Given the description of an element on the screen output the (x, y) to click on. 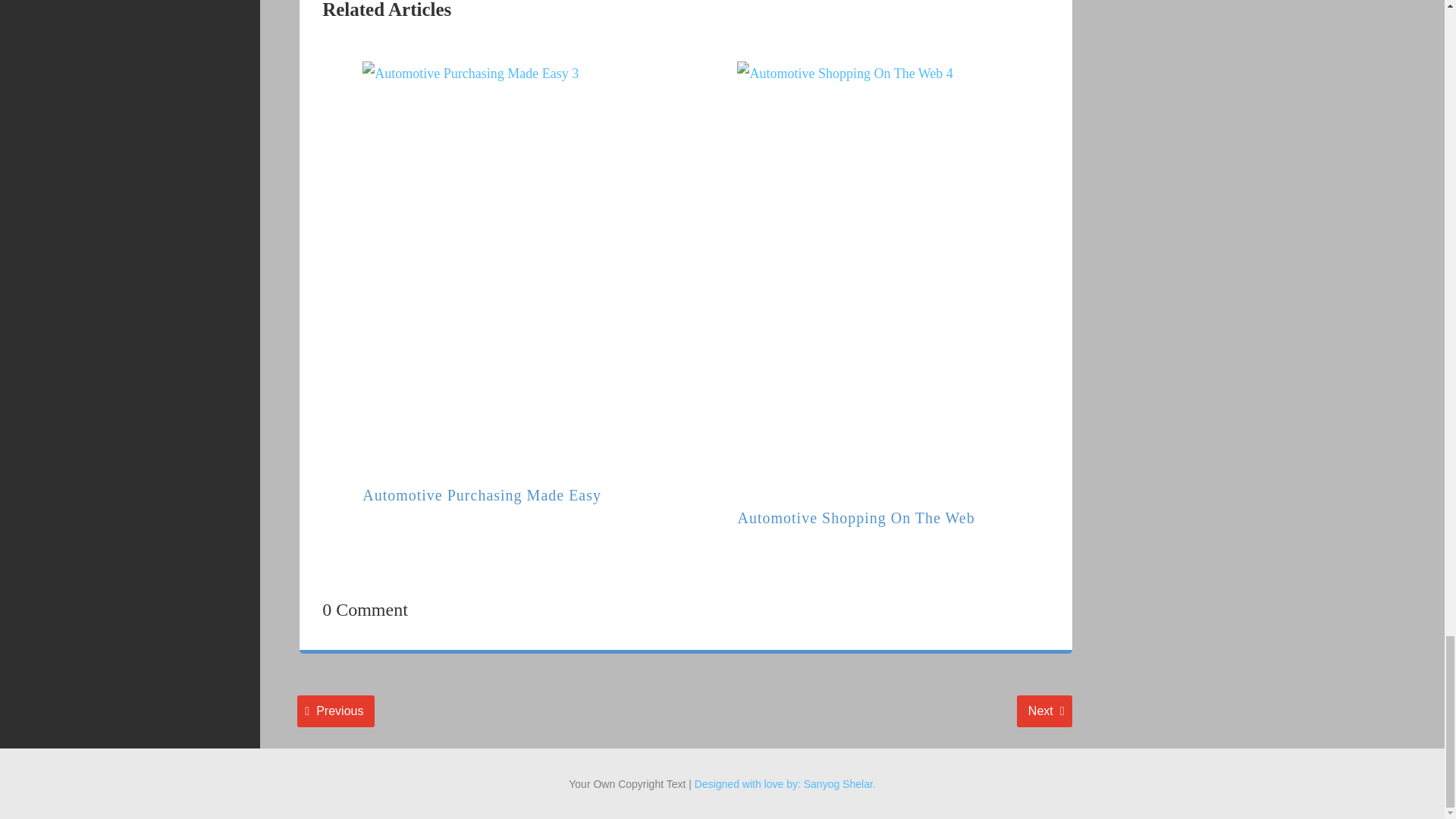
Automotive Purchasing Made Easy (335, 711)
Automotive Shopping On The Web (481, 494)
